Given the description of an element on the screen output the (x, y) to click on. 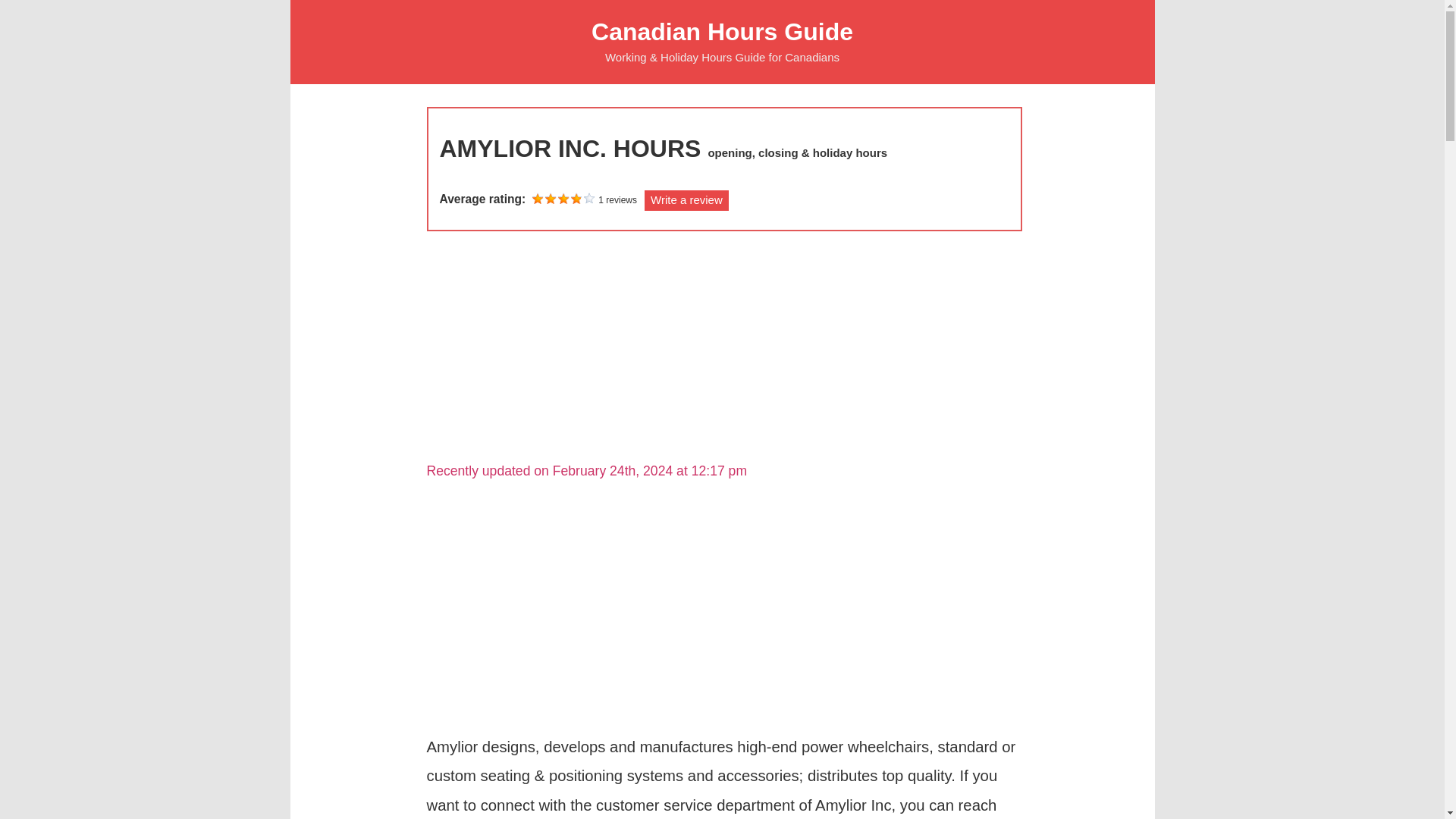
Canadian Hours Guide (722, 31)
Advertisement (724, 610)
Advertisement (724, 352)
Write a review (687, 200)
